Given the description of an element on the screen output the (x, y) to click on. 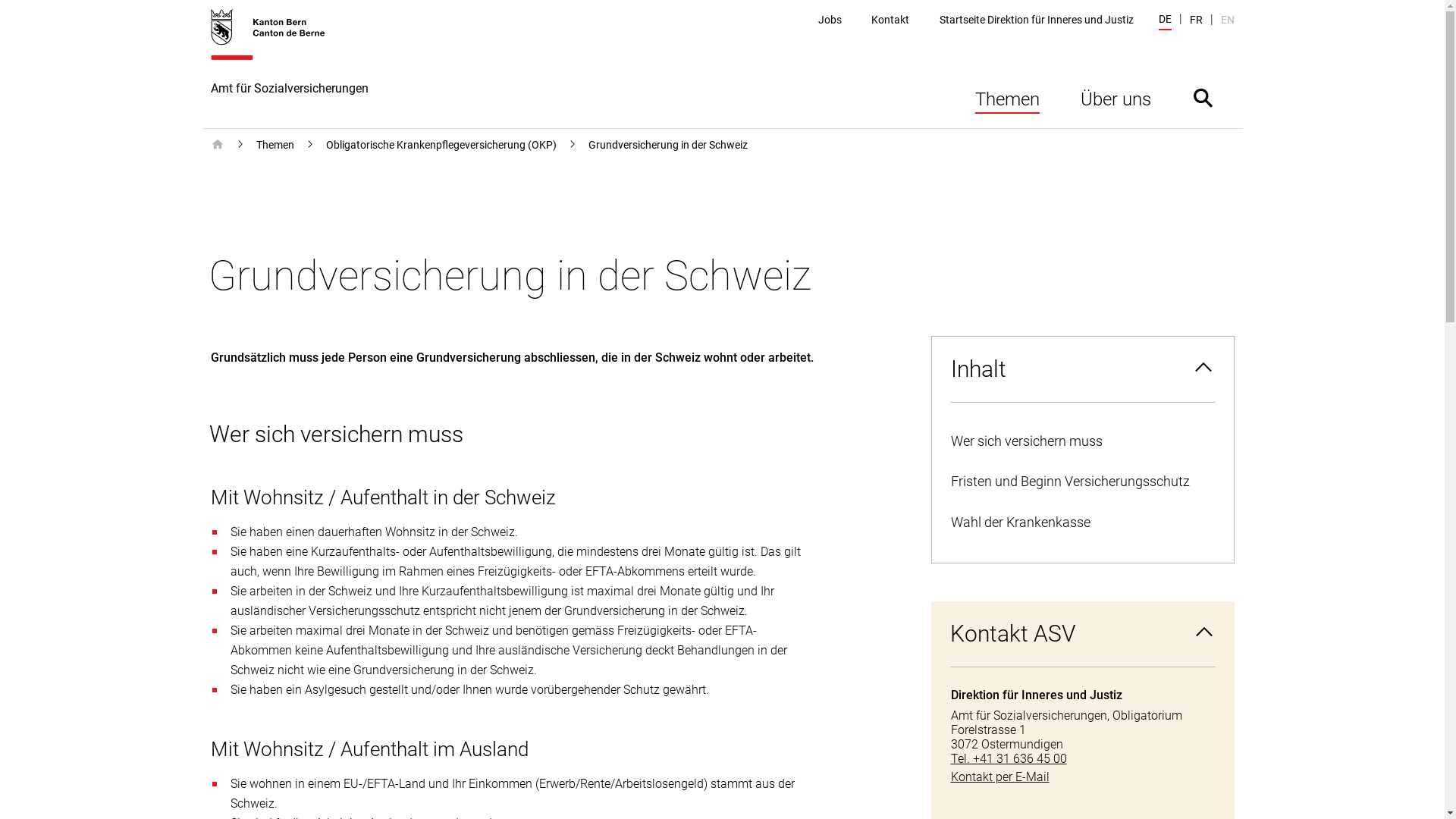
Kontakt ASV Element type: text (1082, 633)
Themen Element type: text (1006, 96)
FR Element type: text (1195, 19)
Fristen und Beginn Versicherungsschutz Element type: text (1082, 481)
Suche ein- oder ausblenden Element type: text (1201, 96)
Jobs Element type: text (829, 19)
Tel. +41 31 636 45 00 Element type: text (1082, 758)
Startseite Element type: text (217, 144)
Wer sich versichern muss Element type: text (1082, 441)
Grundversicherung in der Schweiz Element type: text (667, 144)
Themen Element type: text (275, 144)
Kontakt per E-Mail Element type: text (1082, 776)
Obligatorische Krankenpflegeversicherung (OKP) Element type: text (441, 144)
Wahl der Krankenkasse Element type: text (1082, 522)
DE Element type: text (1164, 21)
Inhalt Element type: text (1082, 368)
Kontakt Element type: text (890, 19)
